Given the description of an element on the screen output the (x, y) to click on. 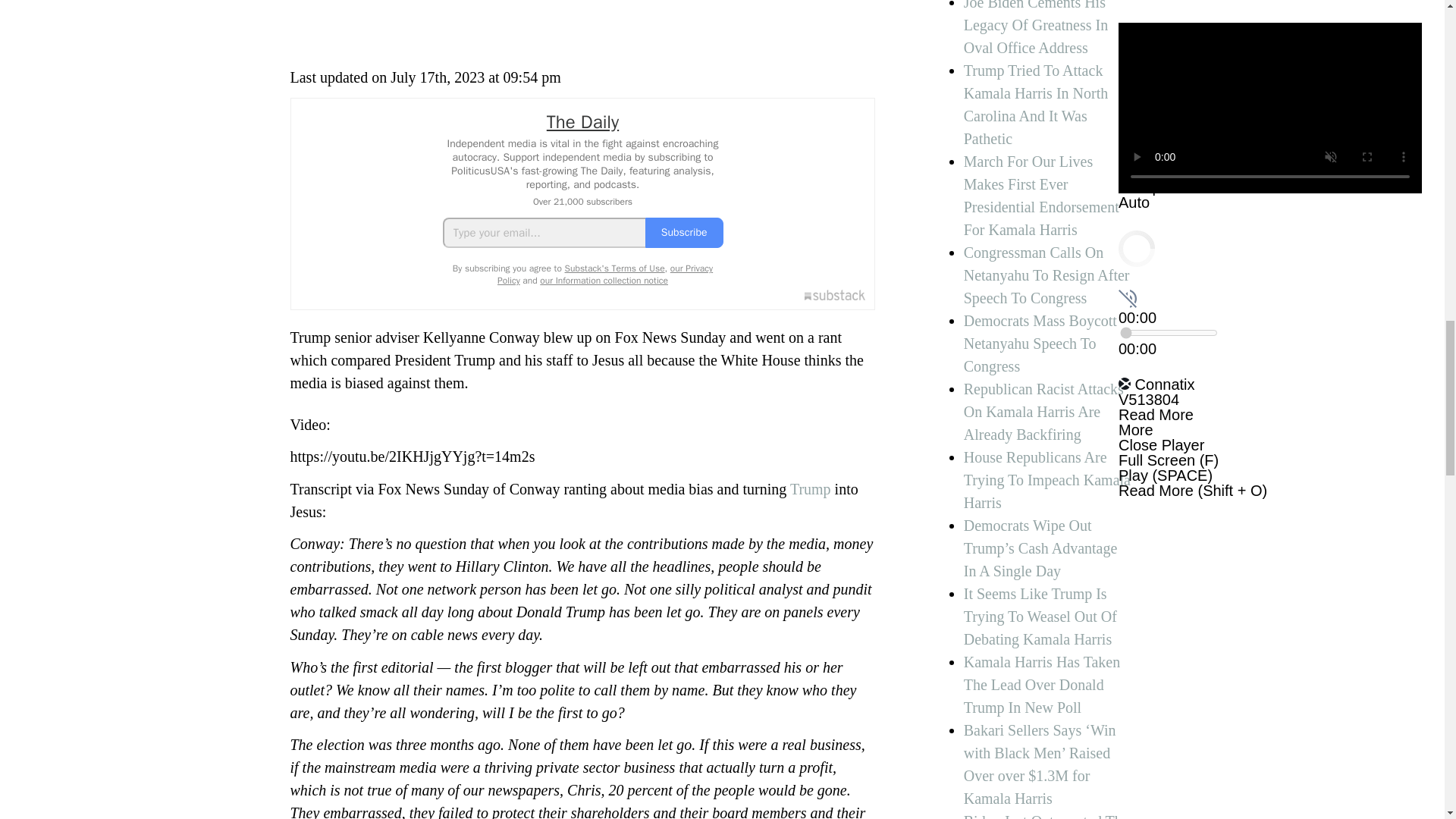
Trump (810, 488)
Trump (810, 488)
